Given the description of an element on the screen output the (x, y) to click on. 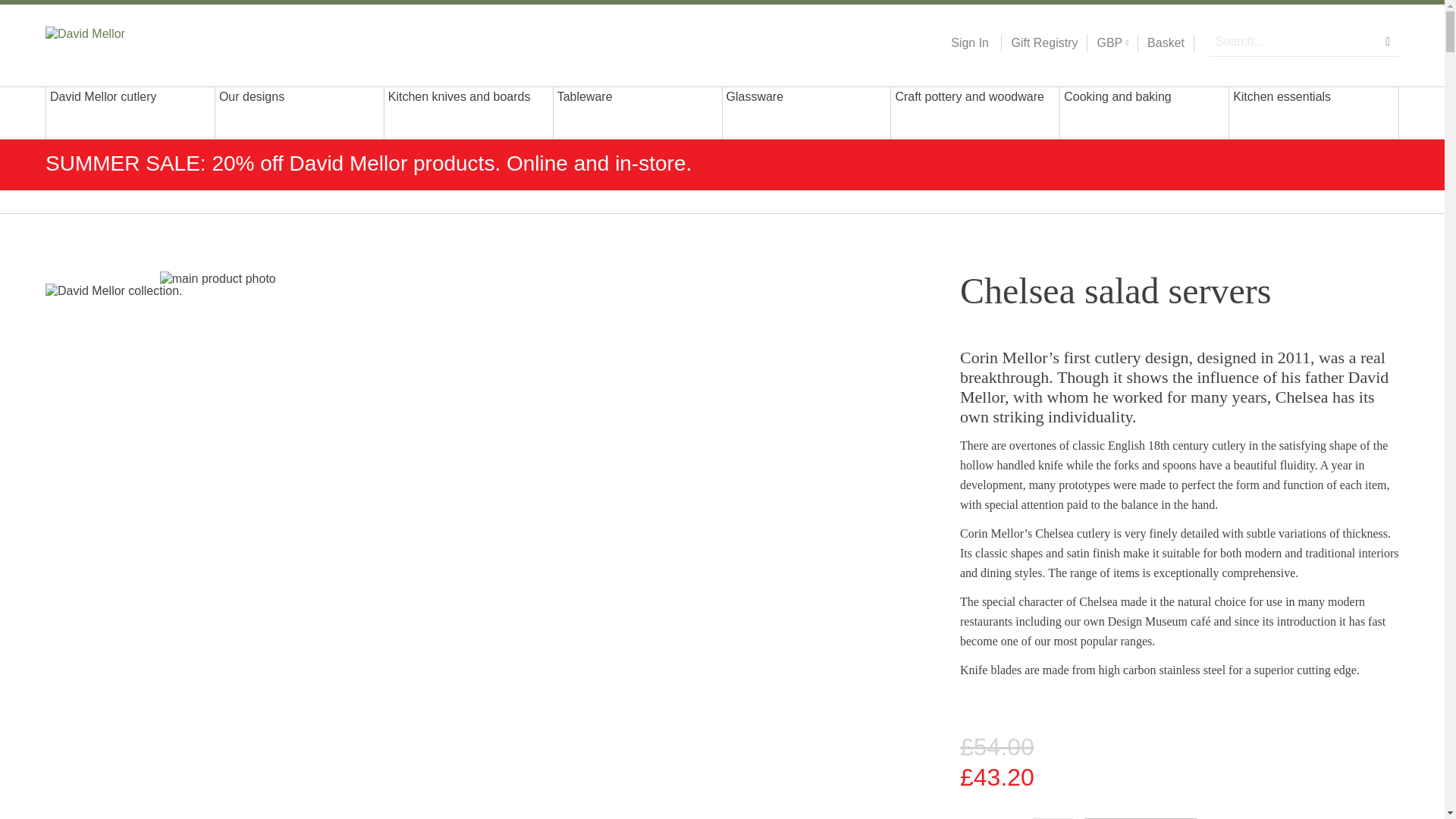
Gift Registry (1039, 43)
1 (1052, 818)
David Mellor (143, 42)
Search (1388, 41)
Qty (1052, 818)
David Mellor cutlery (130, 112)
Sign In (969, 43)
Search (1388, 41)
Basket (1166, 43)
